Given the description of an element on the screen output the (x, y) to click on. 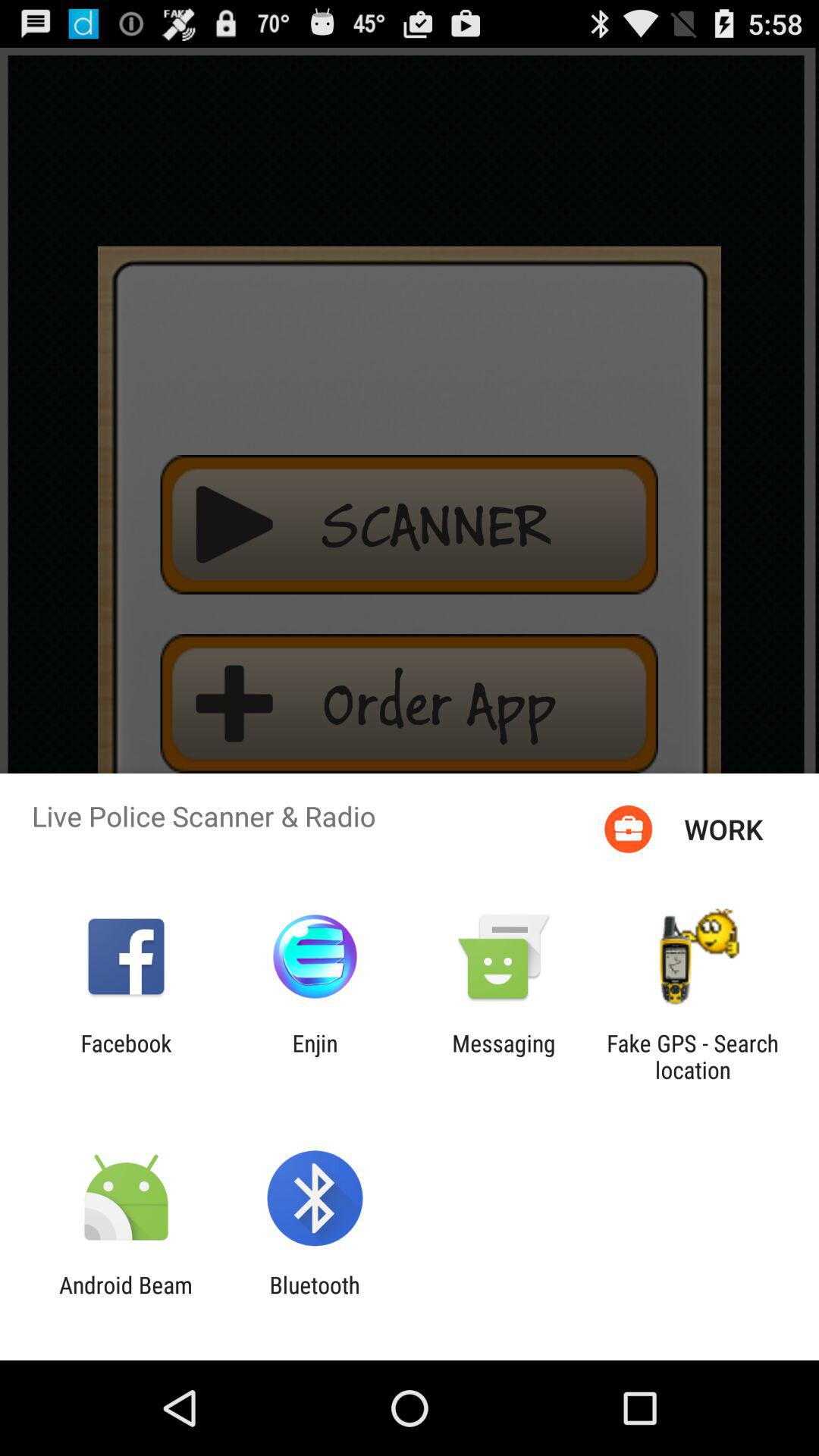
turn on the item to the left of the bluetooth app (125, 1298)
